Given the description of an element on the screen output the (x, y) to click on. 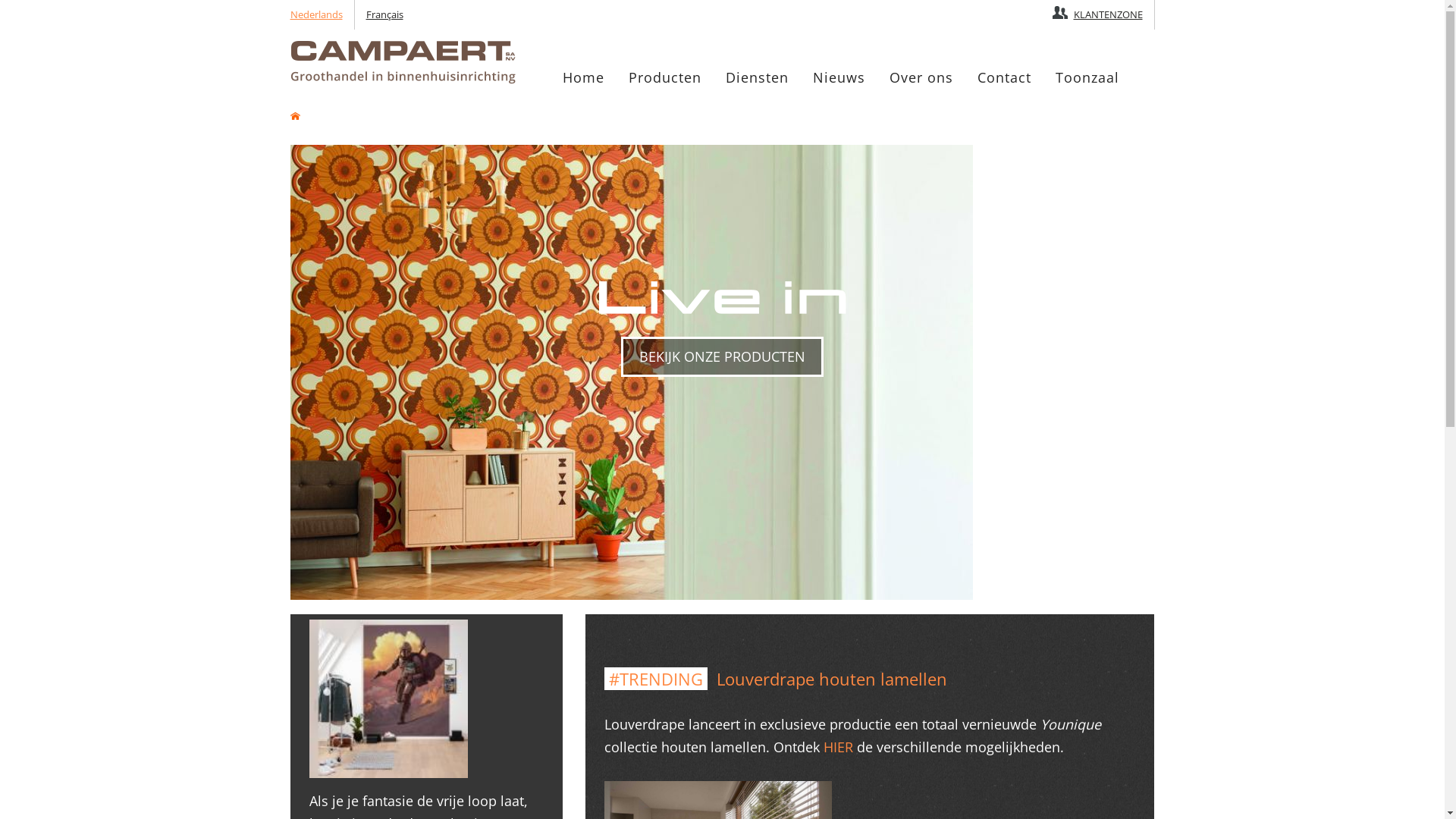
Producten Element type: text (664, 77)
Home Element type: text (294, 113)
Nieuws Element type: text (837, 77)
Nederlands Element type: text (321, 14)
BEKIJK ONZE PRODUCTEN Element type: text (722, 356)
Contact Element type: text (1004, 77)
Home Element type: text (582, 77)
Diensten Element type: text (757, 77)
KLANTENZONE Element type: text (1098, 14)
Over ons Element type: text (921, 77)
HIER Element type: text (838, 746)
Toonzaal Element type: text (1086, 77)
